Given the description of an element on the screen output the (x, y) to click on. 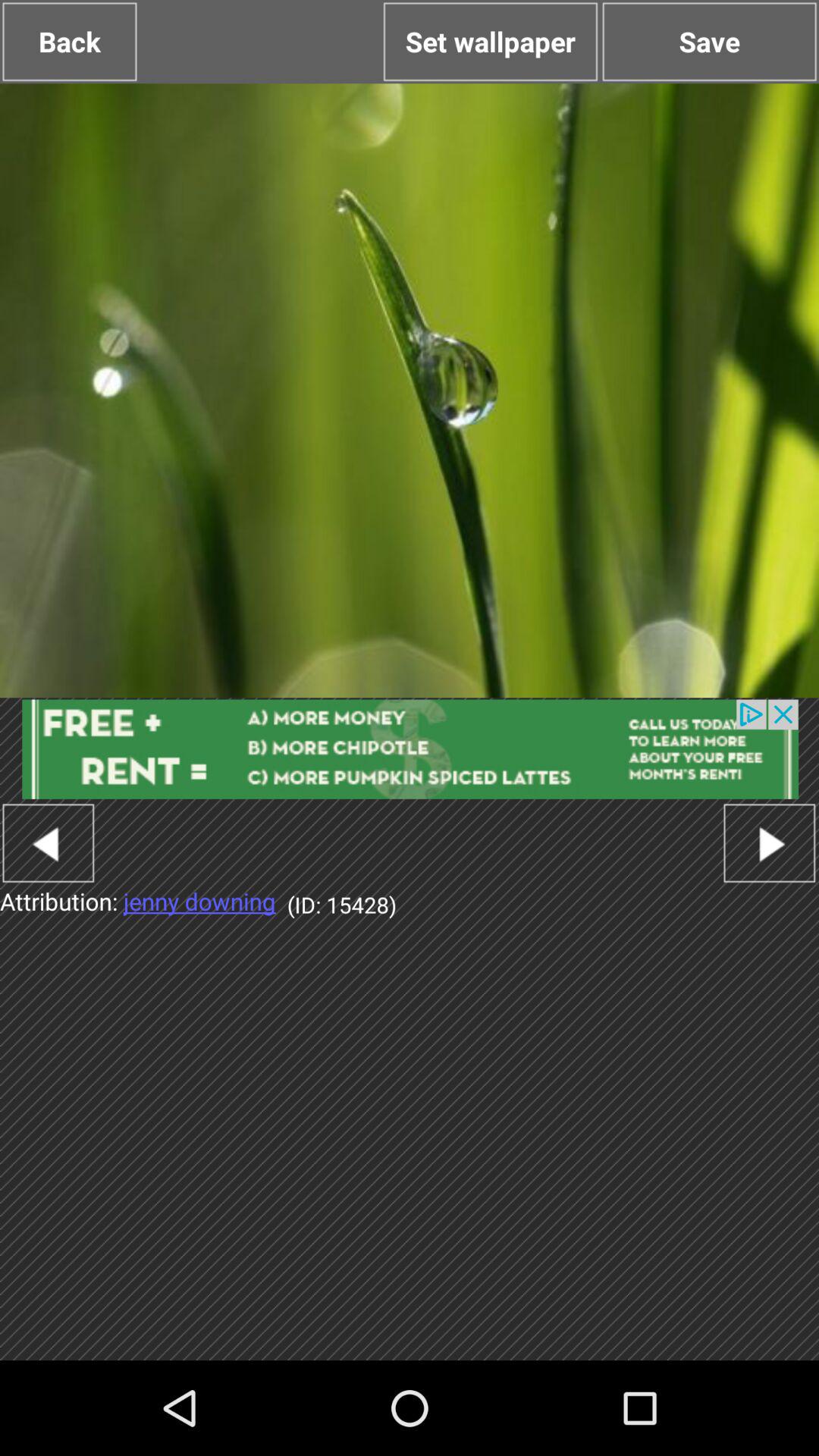
go forward (769, 842)
